Given the description of an element on the screen output the (x, y) to click on. 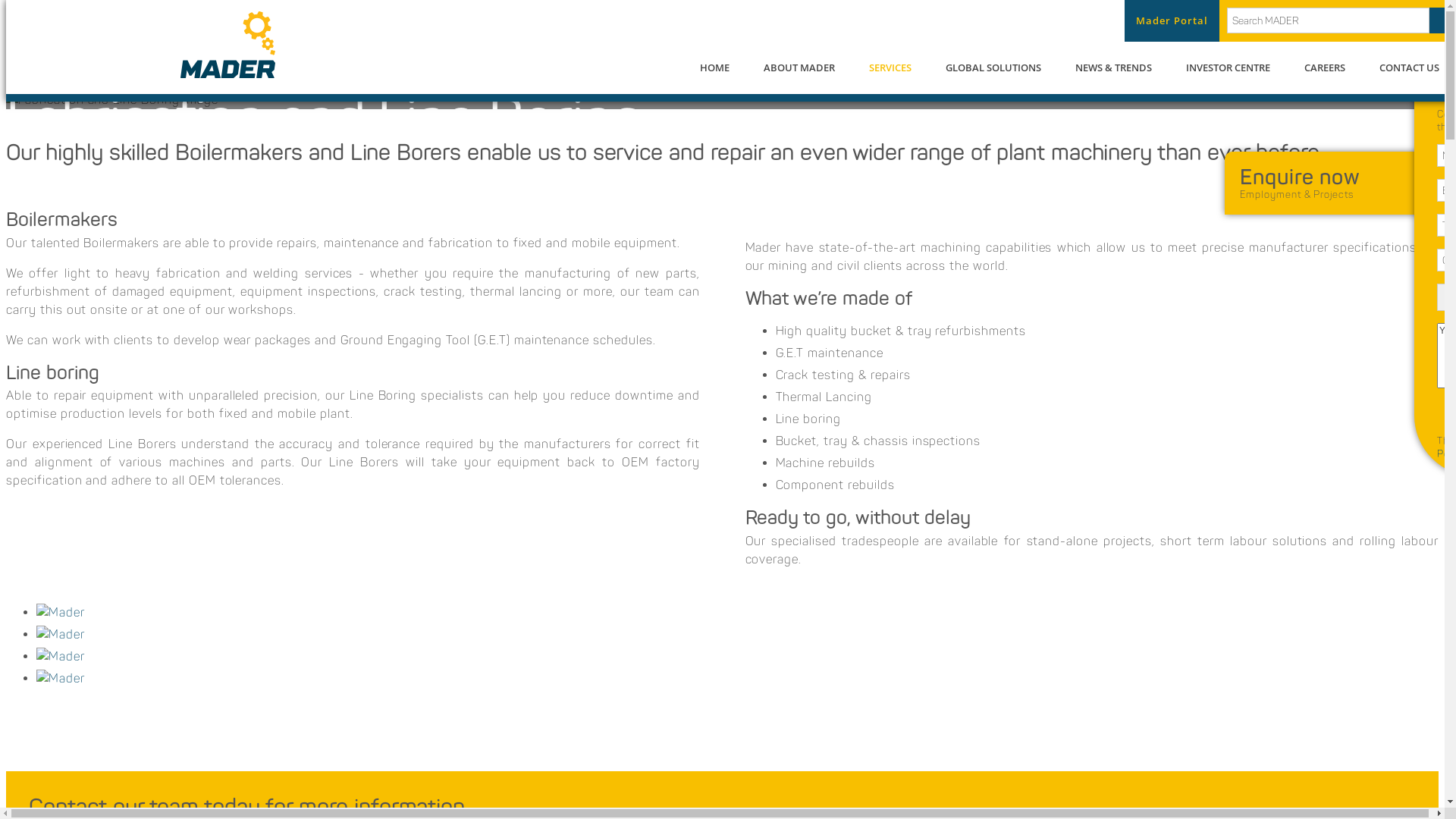
INVESTOR CENTRE Element type: text (1235, 65)
CAREERS Element type: text (1332, 65)
Click to enlarge Element type: hover (737, 634)
Mader Portal Element type: text (1171, 20)
GLOBAL SOLUTIONS Element type: text (1000, 65)
SERVICES Element type: text (897, 65)
ABOUT MADER Element type: text (806, 65)
Mader Element type: hover (737, 634)
HOME Element type: text (722, 65)
Mader Element type: hover (737, 612)
NEWS & TRENDS Element type: text (1120, 65)
Click to enlarge Element type: hover (737, 656)
Click to enlarge Element type: hover (737, 612)
Mader Element type: hover (737, 678)
Mader Element type: hover (737, 656)
Click to enlarge Element type: hover (737, 678)
